Given the description of an element on the screen output the (x, y) to click on. 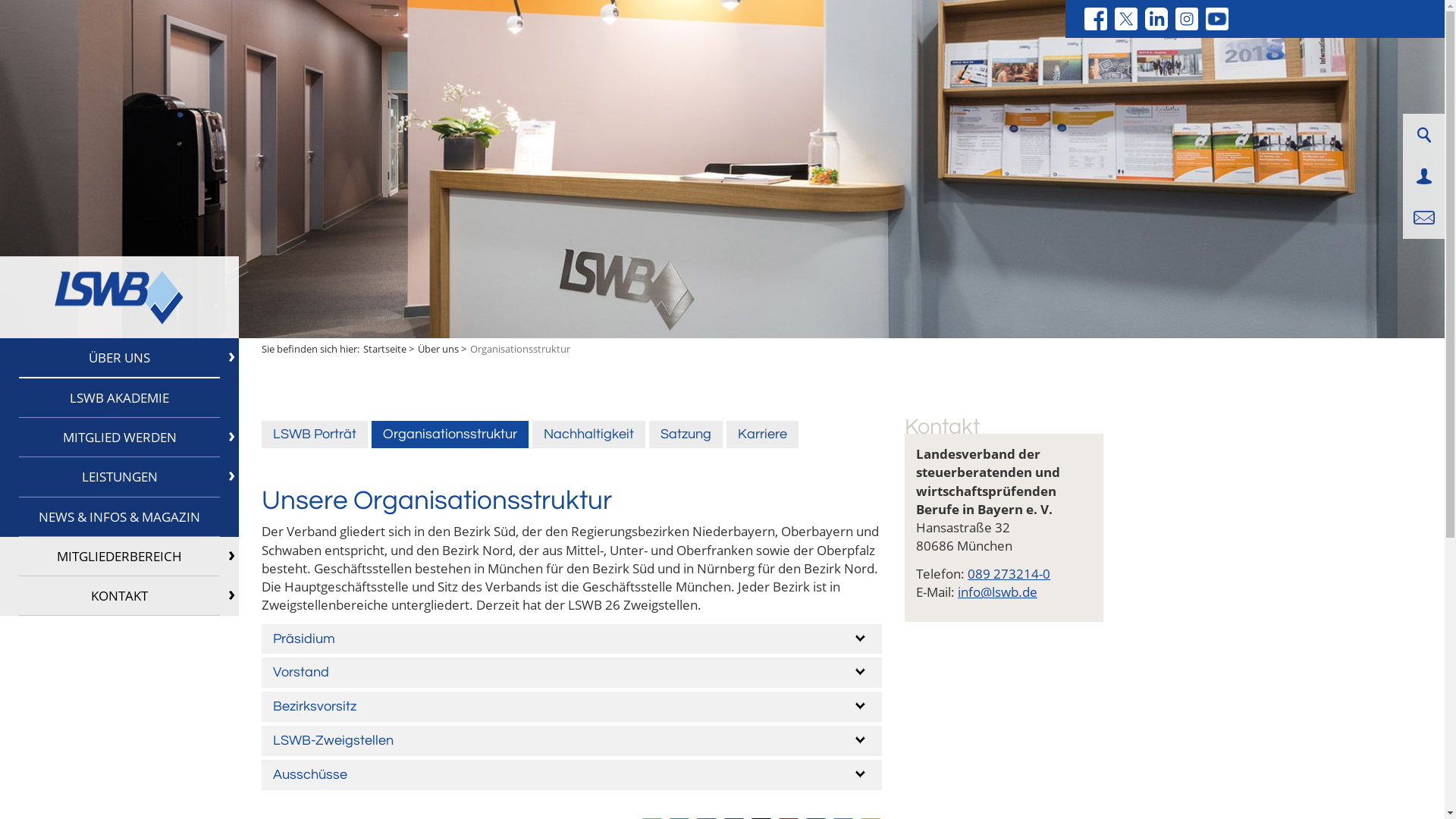
Satzung Element type: text (685, 434)
LSWB bei Instagram Element type: hover (1186, 18)
LEISTUNGEN Element type: text (119, 476)
089 273214-0 Element type: text (1008, 573)
KONTAKT Element type: text (119, 595)
Startseite Element type: text (384, 348)
info@lswb.de Element type: text (997, 591)
MITGLIED WERDEN Element type: text (119, 437)
NEWS & INFOS & MAGAZIN Element type: text (119, 516)
Bezirksvorsitz Element type: text (571, 706)
LSWB AKADEMIE Element type: text (119, 397)
Login Element type: hover (1423, 176)
LSWB bei LinkedIn Element type: hover (1156, 18)
Kontakt Element type: hover (1423, 217)
LSWB bei Youtube Element type: hover (1216, 18)
Organisationsstruktur Element type: text (449, 434)
LSWB Element type: hover (119, 296)
Suche Element type: hover (1423, 134)
Vorstand Element type: text (571, 672)
LSWB bei Twitter Element type: hover (1125, 18)
LSWB-Zweigstellen Element type: text (571, 740)
Karriere Element type: text (762, 434)
MITGLIEDERBEREICH Element type: text (119, 556)
Nachhaltigkeit Element type: text (588, 434)
LSWB bei Facebook Element type: hover (1095, 18)
